Given the description of an element on the screen output the (x, y) to click on. 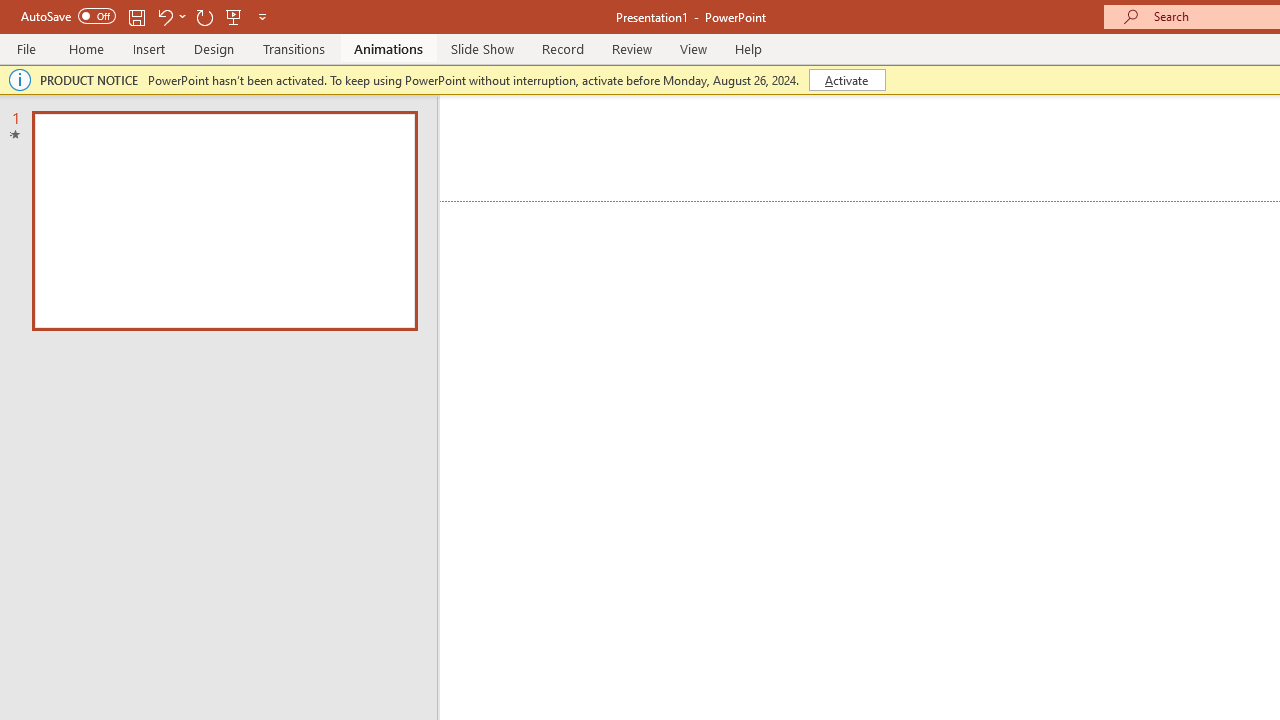
Activate (846, 79)
